Given the description of an element on the screen output the (x, y) to click on. 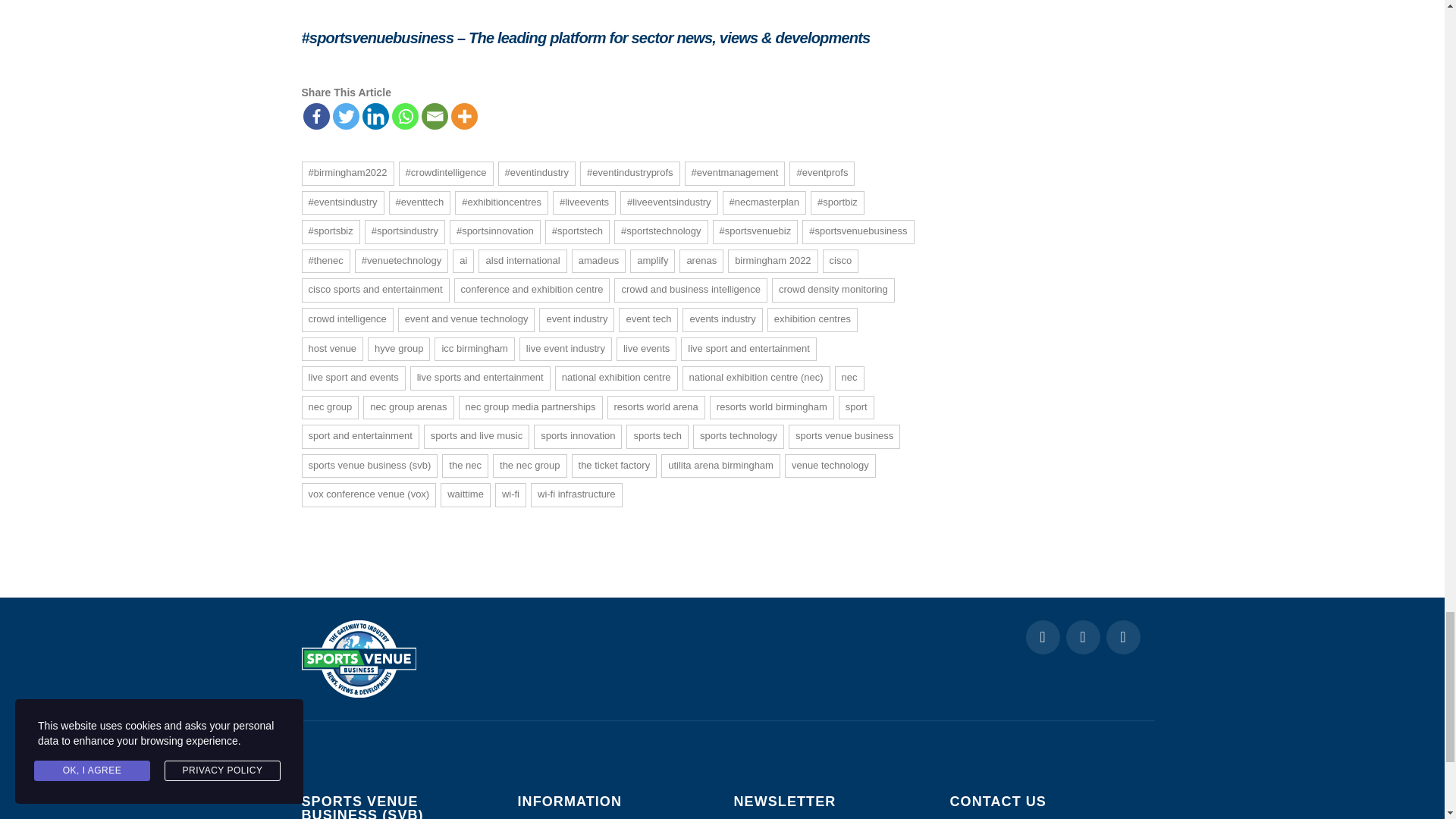
Email (435, 116)
Facebook (316, 116)
Whatsapp (404, 116)
Linkedin (375, 116)
More (463, 116)
Twitter (344, 116)
Page 2 (614, 42)
